Given the description of an element on the screen output the (x, y) to click on. 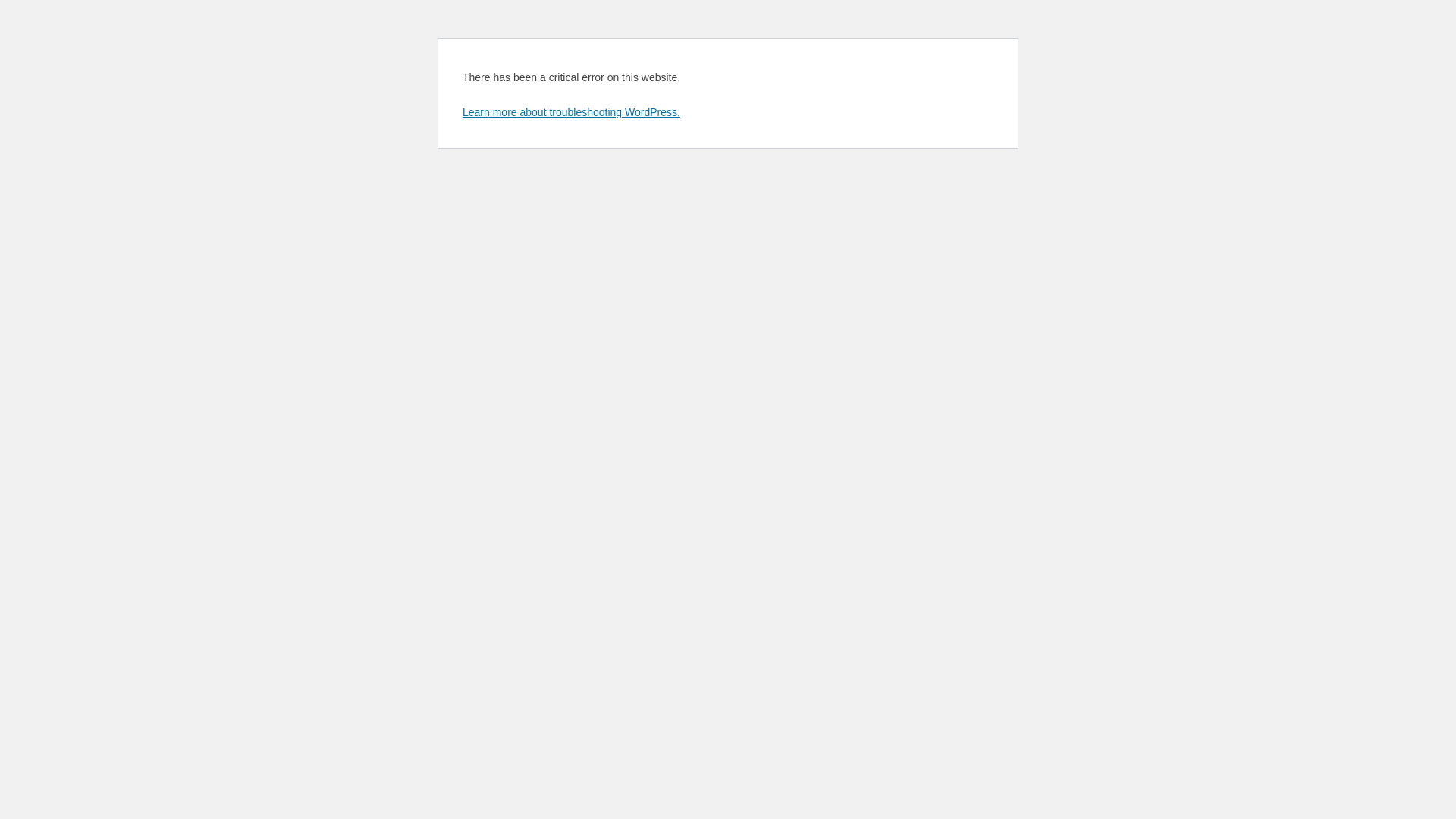
Learn more about troubleshooting WordPress. Element type: text (571, 112)
